Given the description of an element on the screen output the (x, y) to click on. 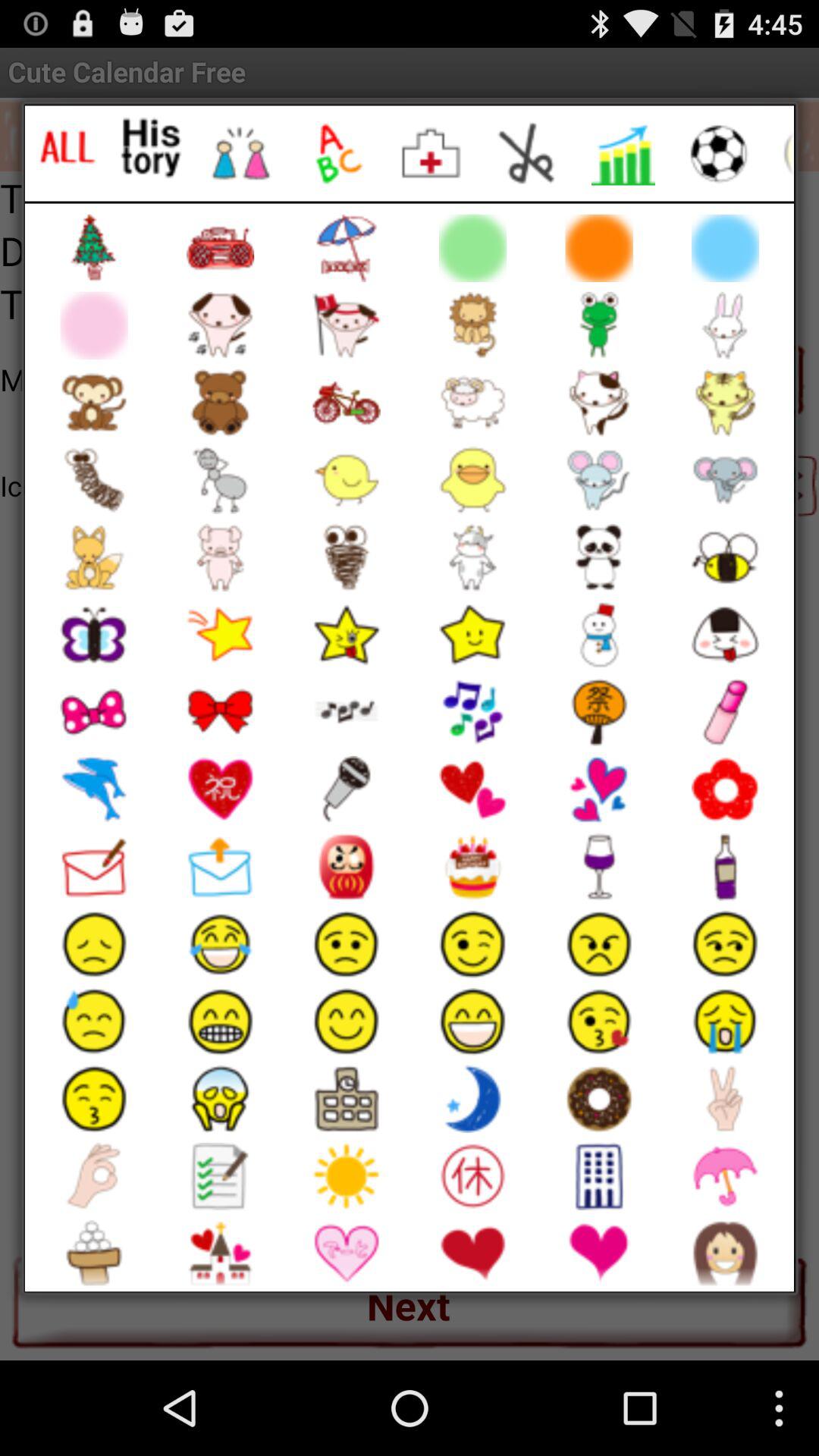
history (151, 147)
